Given the description of an element on the screen output the (x, y) to click on. 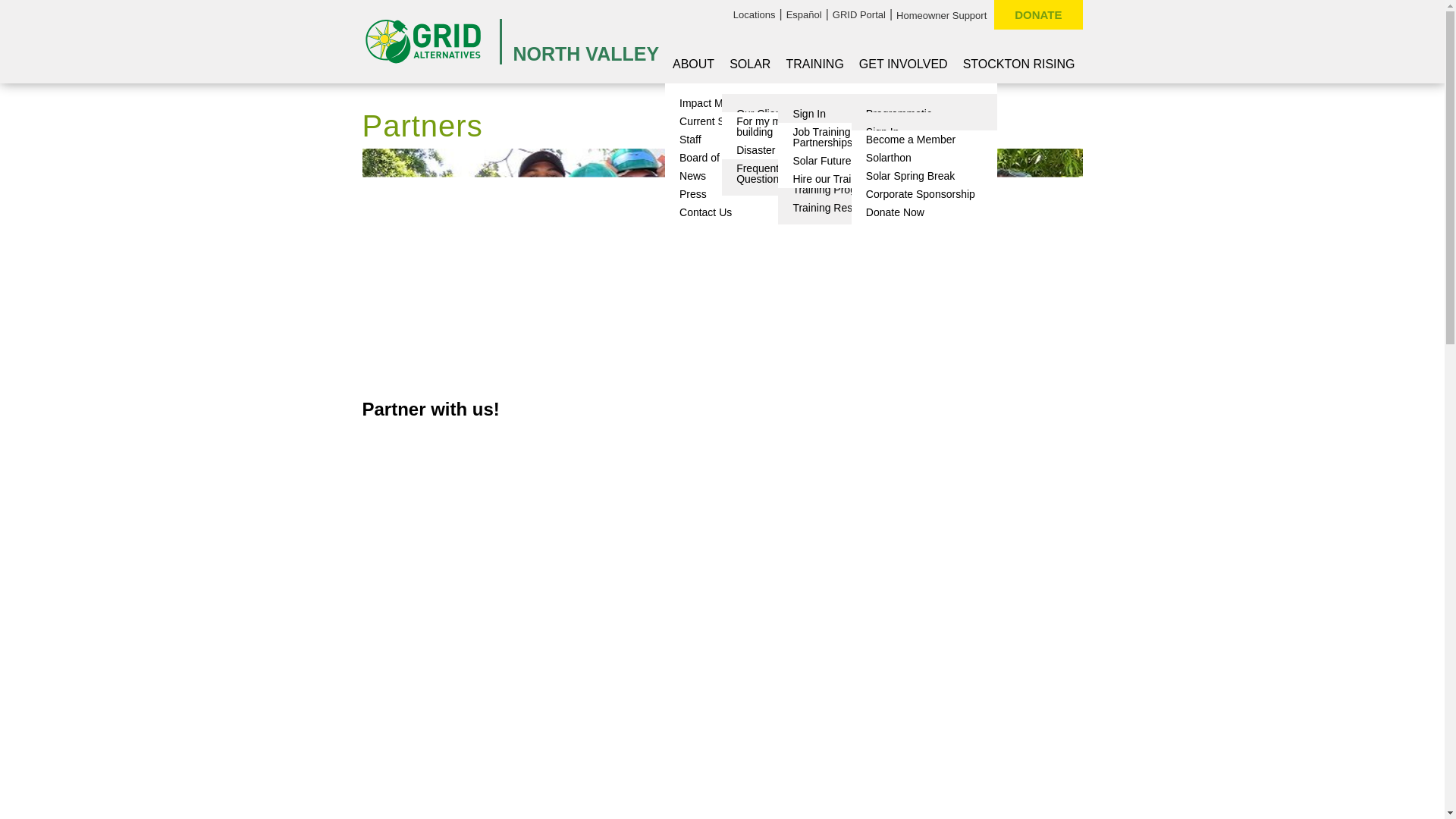
GRID Portal (858, 15)
Our Clients (794, 113)
Locations (754, 15)
Technical Academy (850, 160)
Impact Map (737, 103)
Contact Us (737, 212)
Our Process (794, 149)
Northern CA Solar Training (850, 136)
SOLAR (749, 64)
